Given the description of an element on the screen output the (x, y) to click on. 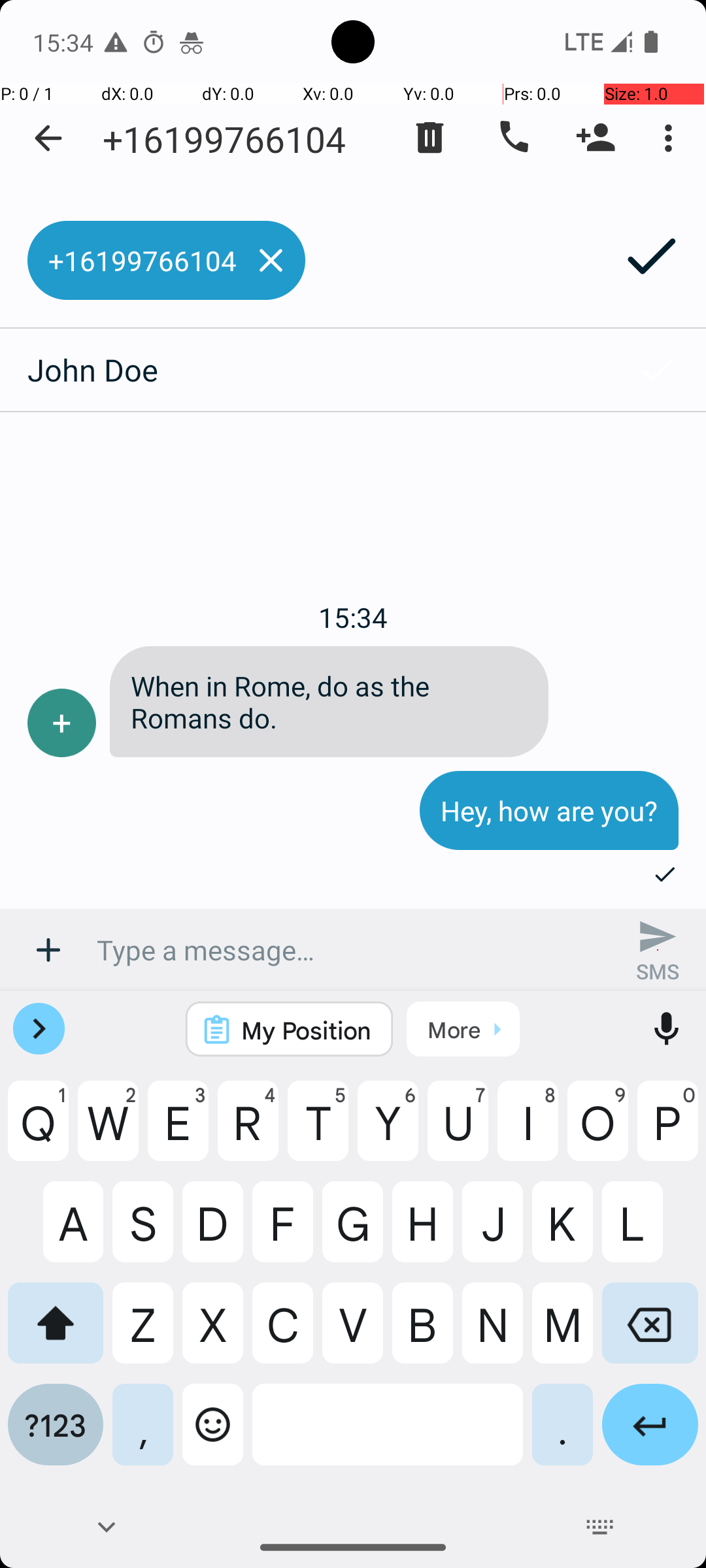
+16199766104 Element type: android.widget.TextView (223, 138)
John Doe Element type: android.widget.AutoCompleteTextView (304, 369)
Confirm selection Element type: android.widget.ImageView (657, 369)
Type a message… Element type: android.widget.EditText (352, 949)
When in Rome, do as the Romans do. Element type: android.widget.TextView (328, 727)
Hey, how are you? Element type: android.widget.TextView (548, 811)
